Given the description of an element on the screen output the (x, y) to click on. 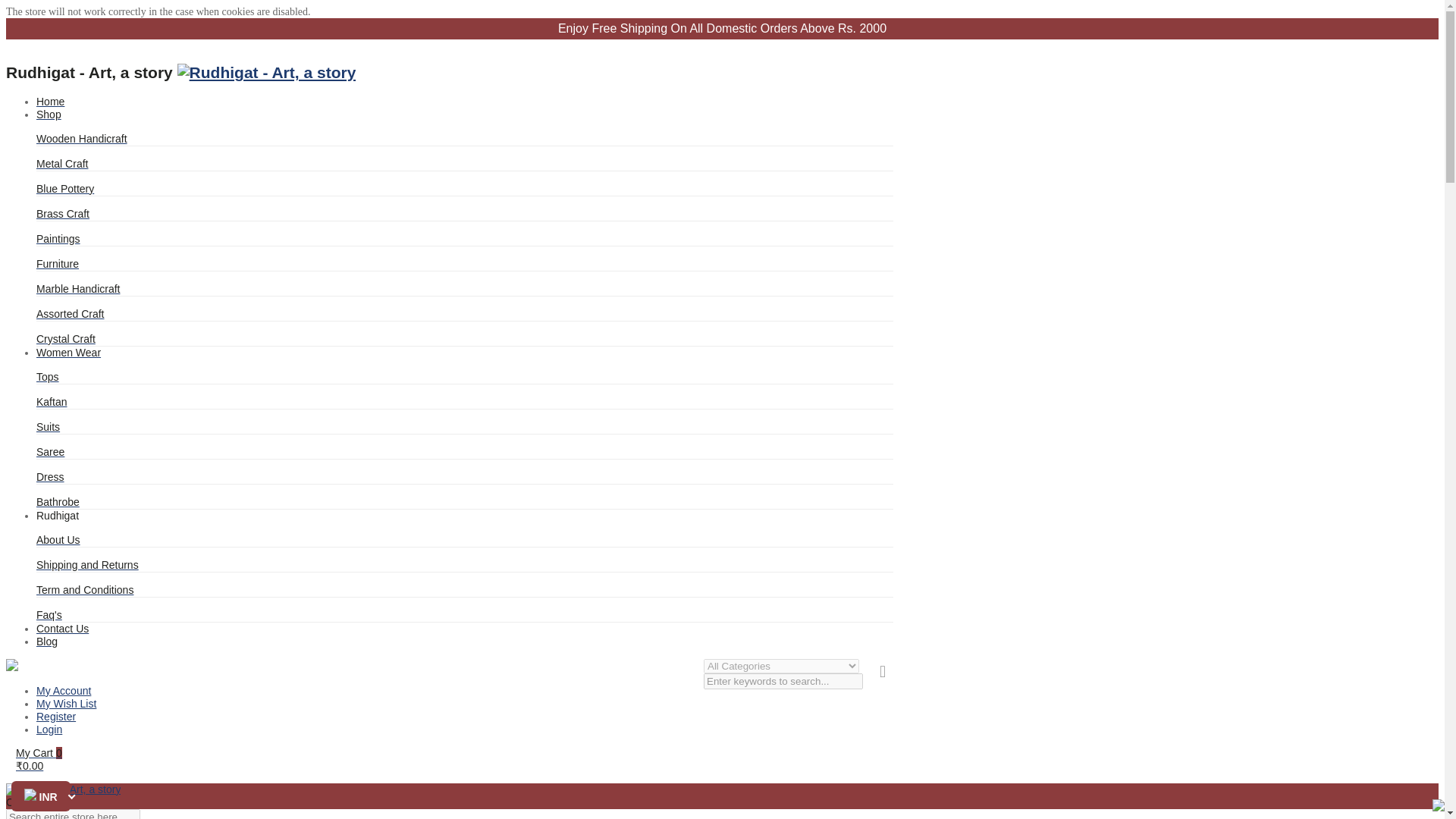
Furniture (57, 263)
Close (11, 666)
Suits (47, 426)
Women Wear (68, 352)
My Account (63, 690)
Marble Handicraft (78, 288)
Wooden Handicraft (82, 138)
Shop (48, 114)
About Us (58, 539)
Home (50, 101)
